Given the description of an element on the screen output the (x, y) to click on. 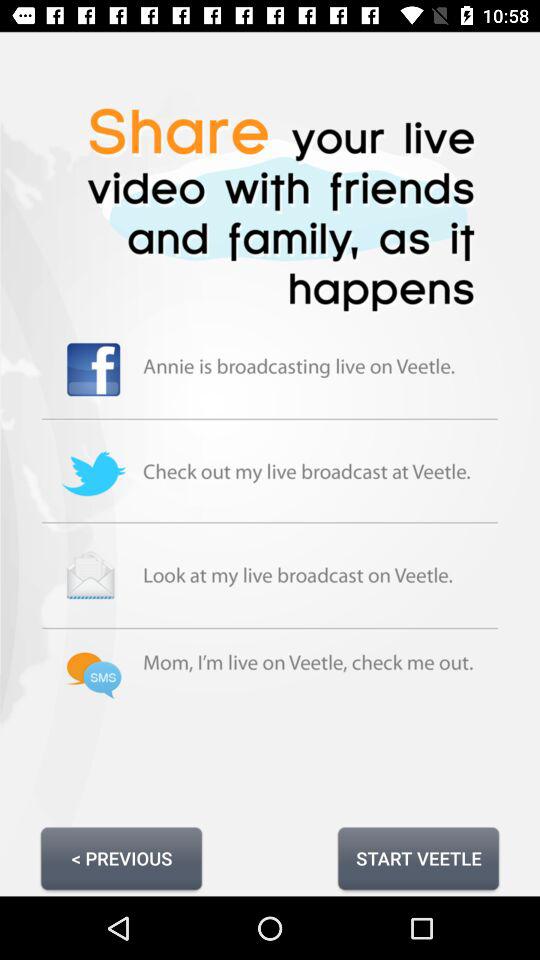
turn on the < previous item (121, 858)
